Given the description of an element on the screen output the (x, y) to click on. 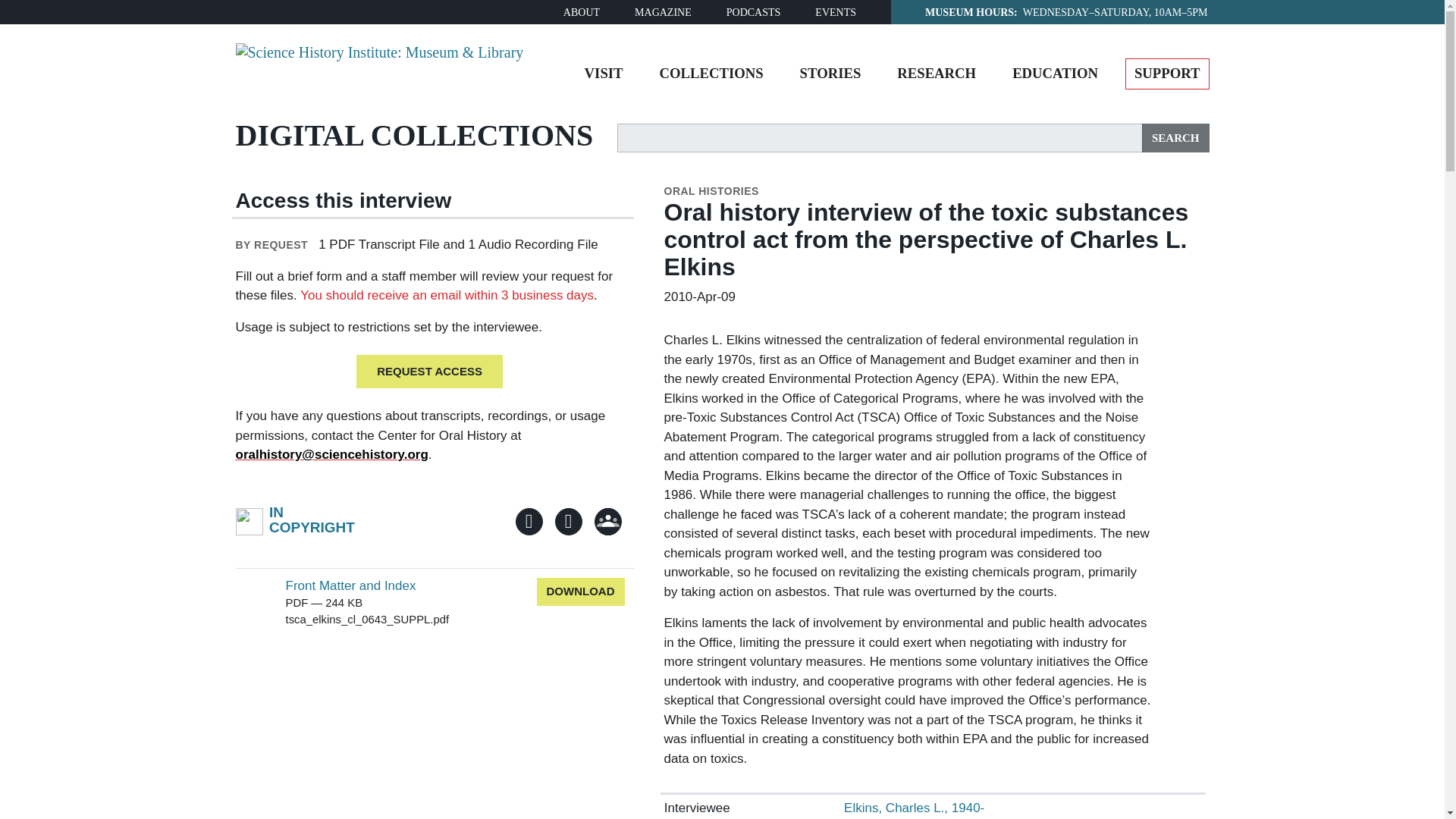
Front Matter and Index (349, 585)
Elkins, Charles L., 1940- (914, 807)
DOWNLOAD (580, 592)
VISIT (603, 76)
RESEARCH (936, 76)
Share to Pinterest (568, 521)
SUPPORT (1167, 73)
EVENTS (835, 12)
SEARCH (1175, 137)
STORIES (830, 76)
ABOUT (581, 12)
PODCASTS (753, 12)
EDUCATION (1055, 76)
MAGAZINE (293, 521)
